Given the description of an element on the screen output the (x, y) to click on. 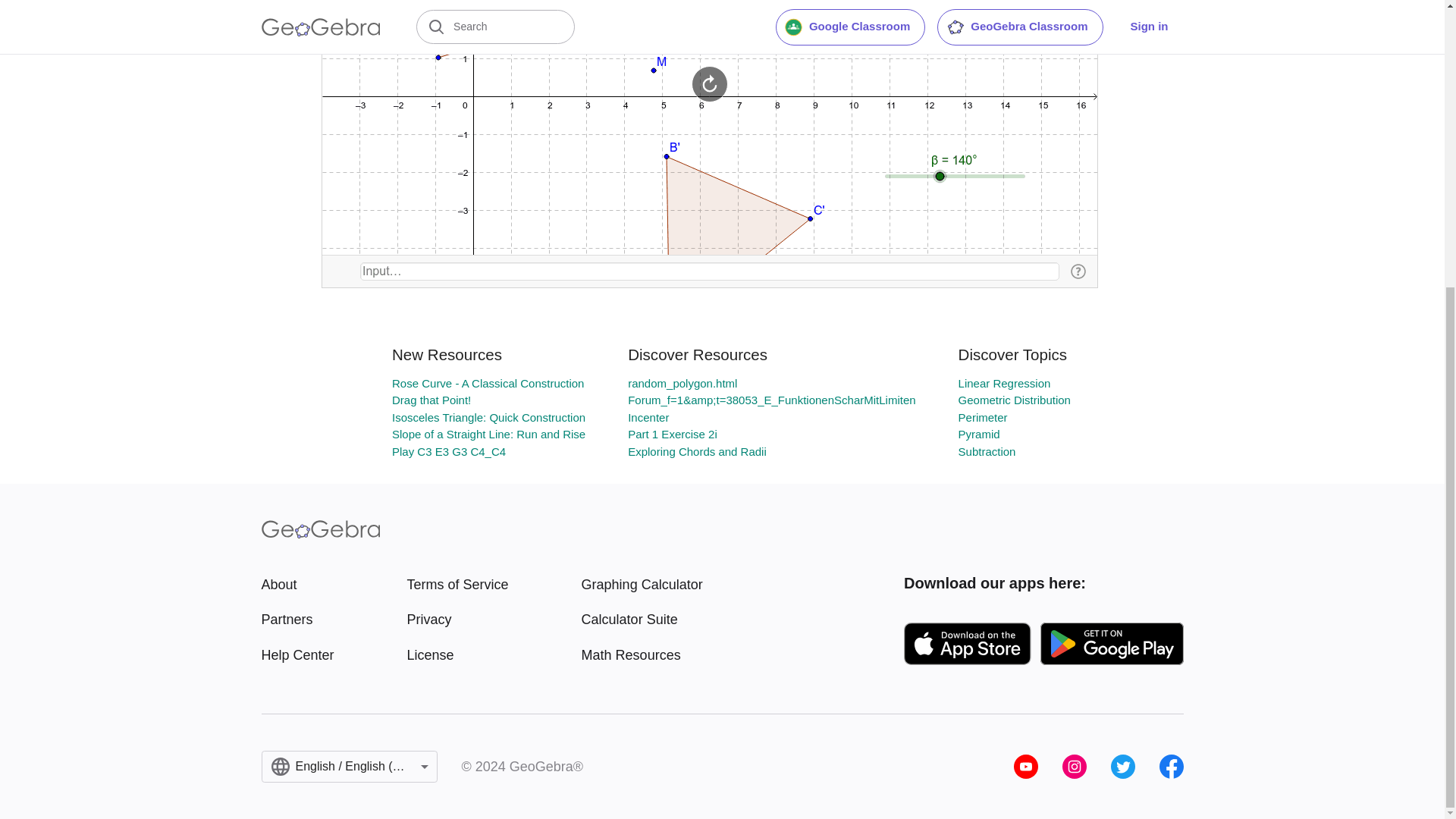
Graphing Calculator (641, 584)
Slope of a Straight Line: Run and Rise (488, 433)
Twitter (1121, 766)
Help Center (296, 655)
Drag that Point! (430, 399)
Facebook (1170, 766)
Youtube (1024, 766)
Geometric Distribution (1014, 399)
Subtraction (987, 451)
Part 1 Exercise 2i (672, 433)
Terms of Service (457, 584)
Linear Regression (1004, 382)
Partners (296, 619)
Privacy (457, 619)
Pyramid (979, 433)
